Given the description of an element on the screen output the (x, y) to click on. 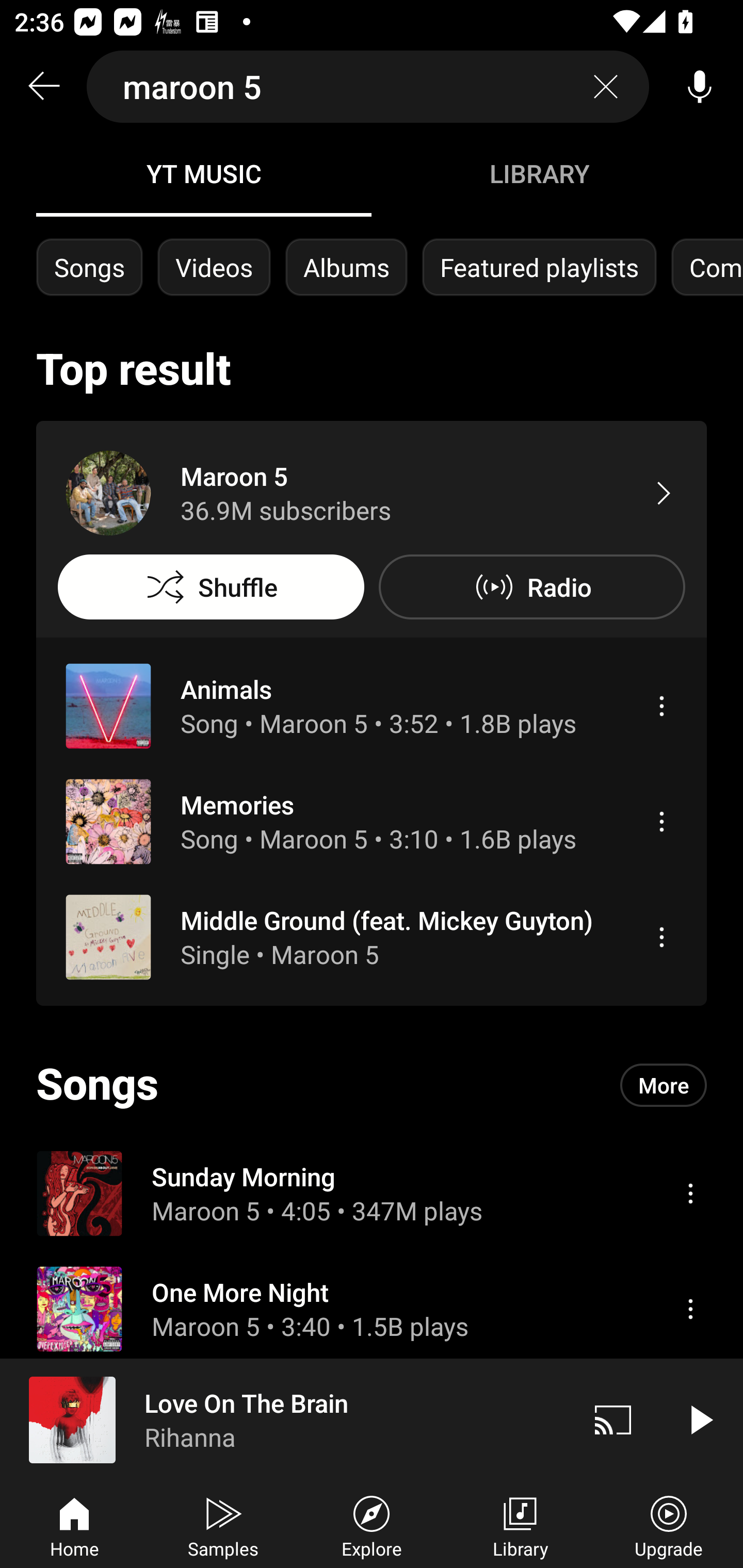
Search back (43, 86)
maroon 5 (367, 86)
Clear search (605, 86)
Voice search (699, 86)
Library LIBRARY (538, 173)
Shuffle (210, 587)
Radio (531, 587)
Menu (661, 705)
Menu (661, 821)
Menu (661, 937)
Songs More More (371, 1084)
More (663, 1085)
Menu (690, 1193)
Menu (690, 1309)
Love On The Brain Rihanna (284, 1419)
Cast. Disconnected (612, 1419)
Play video (699, 1419)
Home (74, 1524)
Samples (222, 1524)
Explore (371, 1524)
Library (519, 1524)
Upgrade (668, 1524)
